Given the description of an element on the screen output the (x, y) to click on. 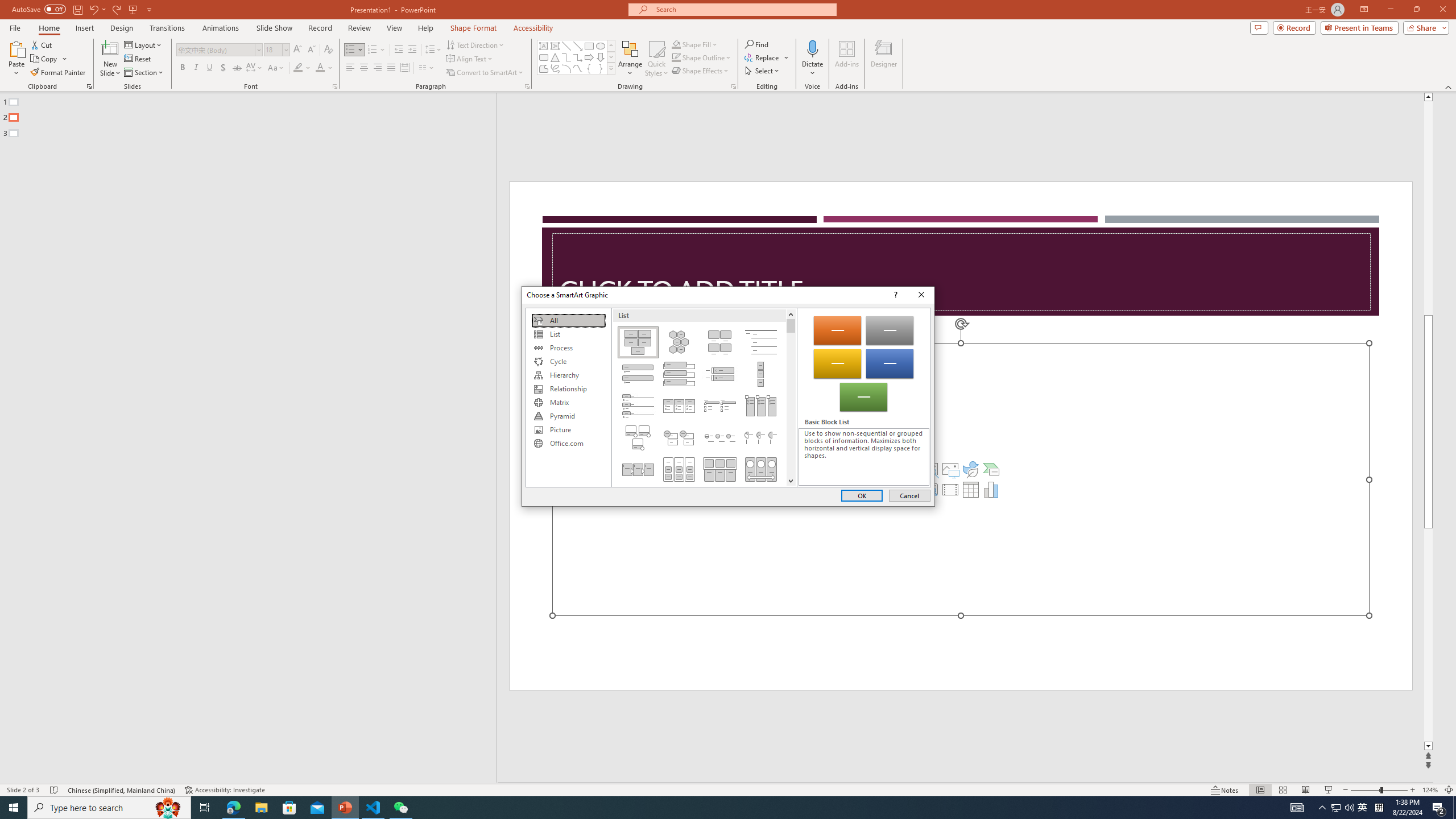
Vertical Bullet List (637, 373)
Basic Block List (637, 342)
Increasing Circle Process (719, 437)
Picture Accent List (761, 405)
Context help (894, 294)
